Given the description of an element on the screen output the (x, y) to click on. 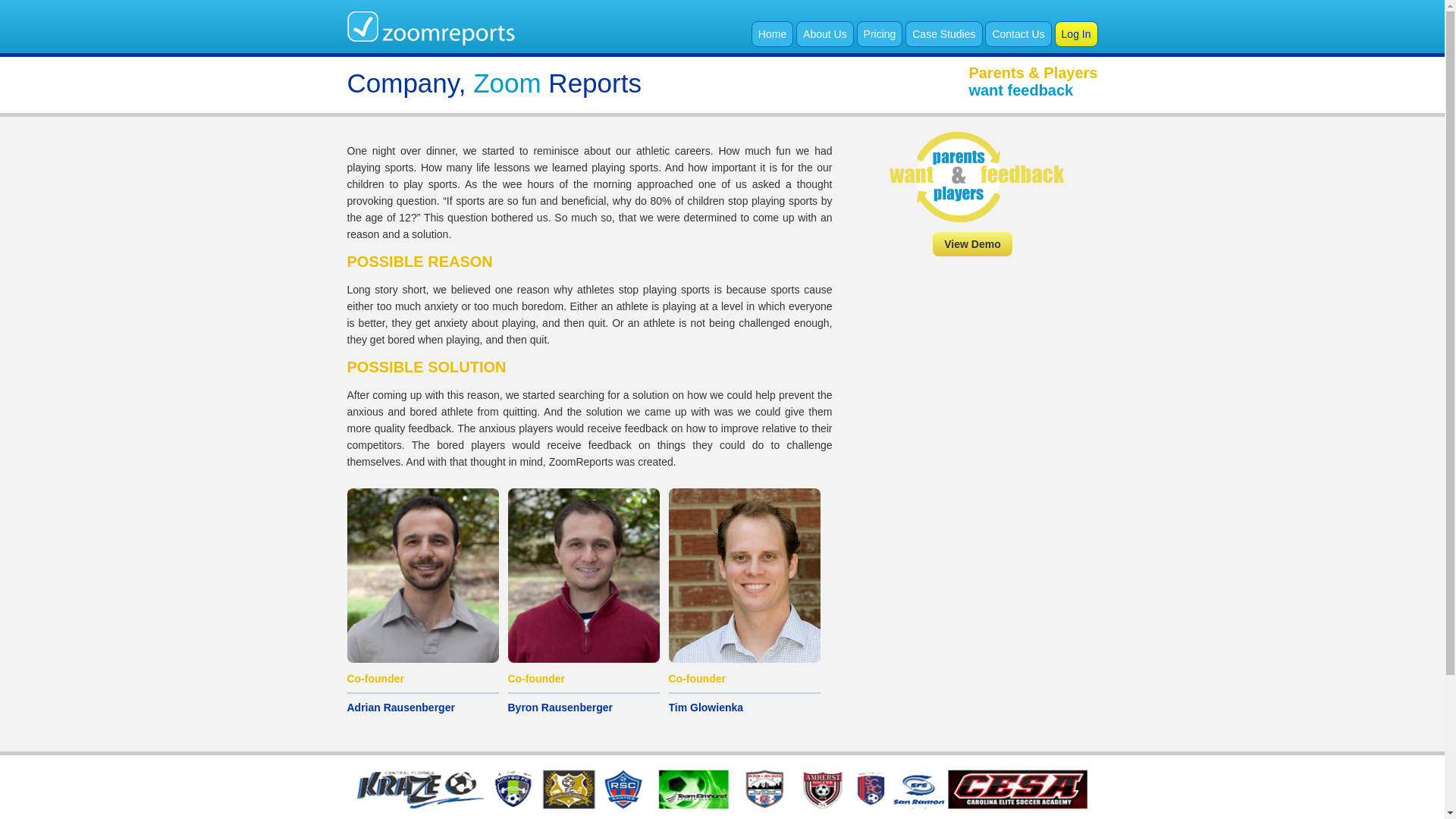
Case Studies (943, 33)
Contact Us (1018, 33)
Log In (1075, 33)
Home (772, 33)
View Demo (972, 243)
Pricing (879, 33)
About Us (824, 33)
